Given the description of an element on the screen output the (x, y) to click on. 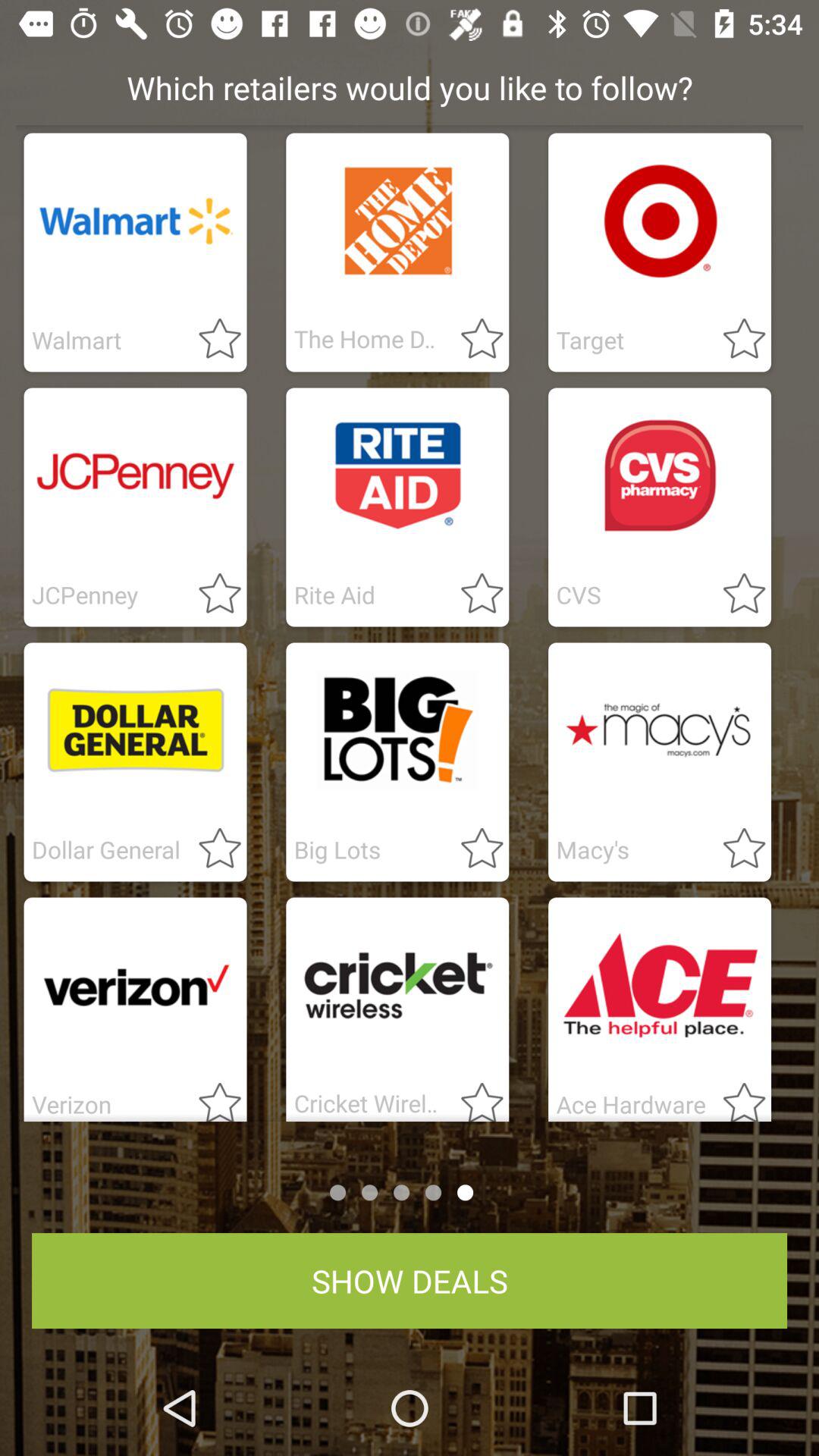
add verizon as a favorite (210, 1096)
